Given the description of an element on the screen output the (x, y) to click on. 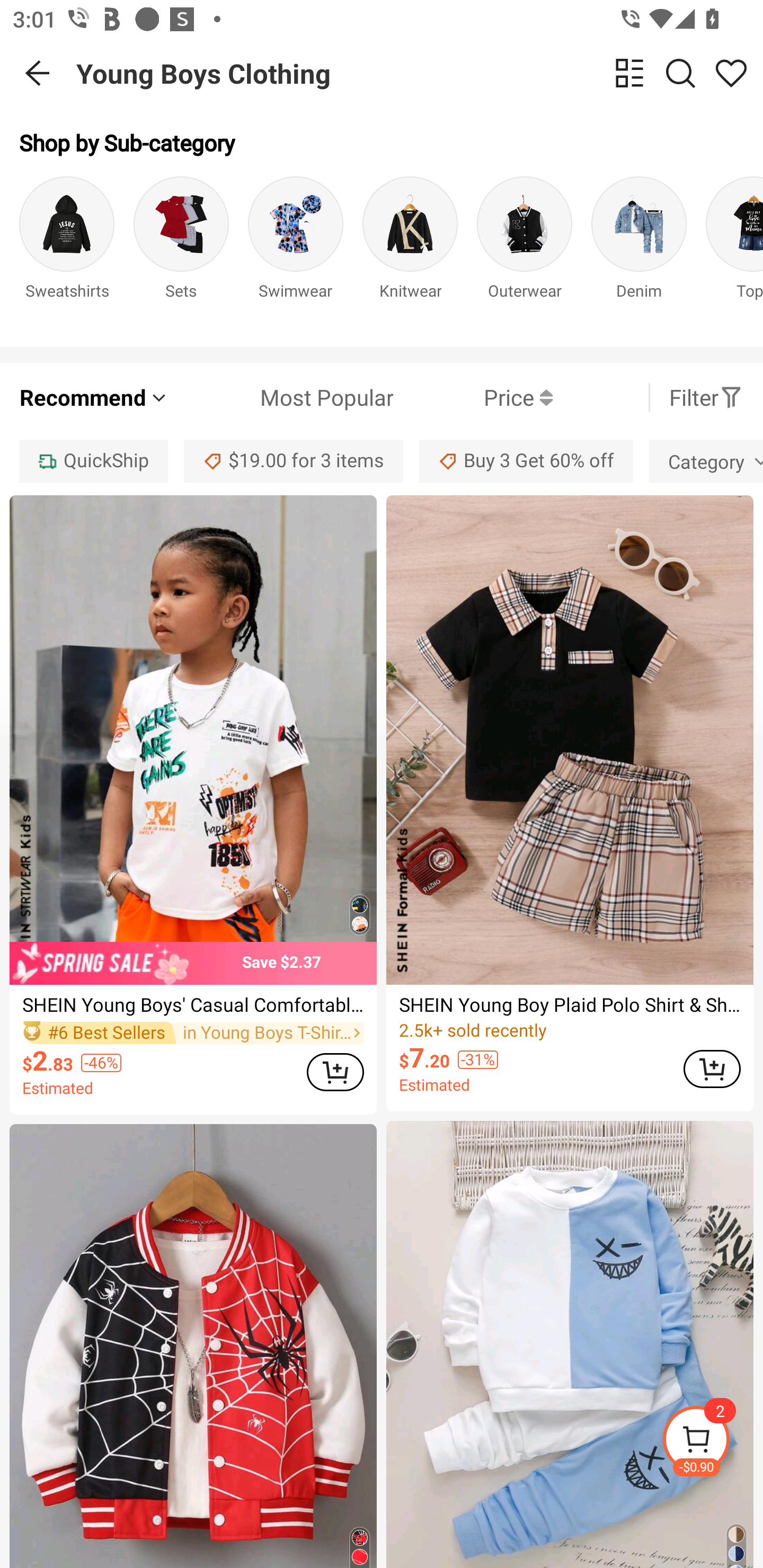
Young Boys Clothing change view Search Share (419, 72)
change view (629, 72)
Search (679, 72)
Share (730, 72)
Sweatshirts (66, 251)
Sets (180, 251)
Swimwear (295, 251)
Knitwear (409, 251)
Outerwear (524, 251)
Denim (638, 251)
Tops (734, 251)
Recommend (94, 397)
Most Popular (280, 397)
Price (472, 397)
Filter (705, 397)
QuickShip (93, 460)
$19.00 for 3 items (292, 460)
Buy 3 Get 60% off (525, 460)
Category (706, 460)
#6 Best Sellers in Young Boys T-Shirts (192, 1032)
ADD TO CART (711, 1069)
ADD TO CART (334, 1072)
-$0.90 (712, 1441)
